Given the description of an element on the screen output the (x, y) to click on. 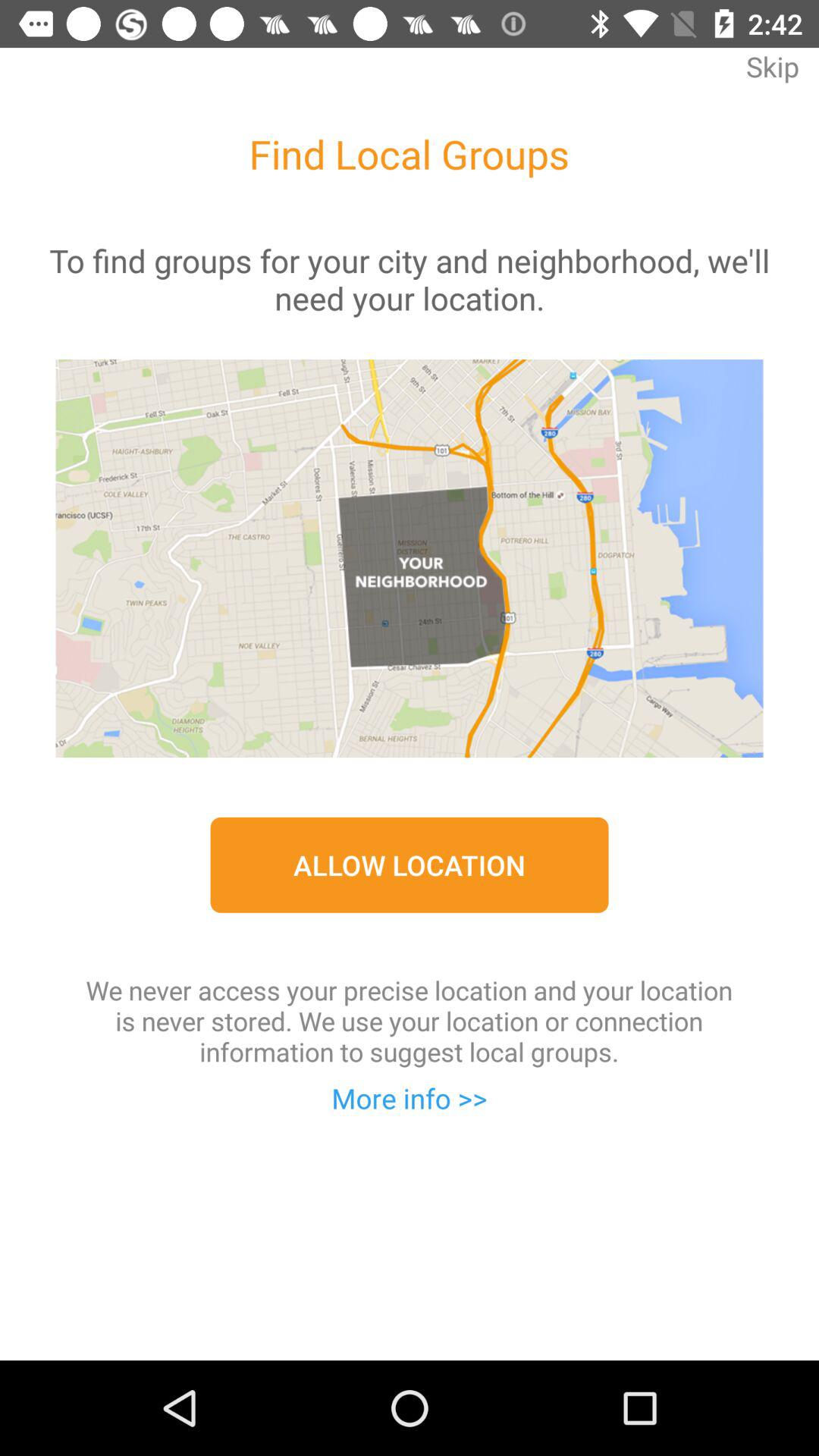
launch skip at the top right corner (772, 77)
